Given the description of an element on the screen output the (x, y) to click on. 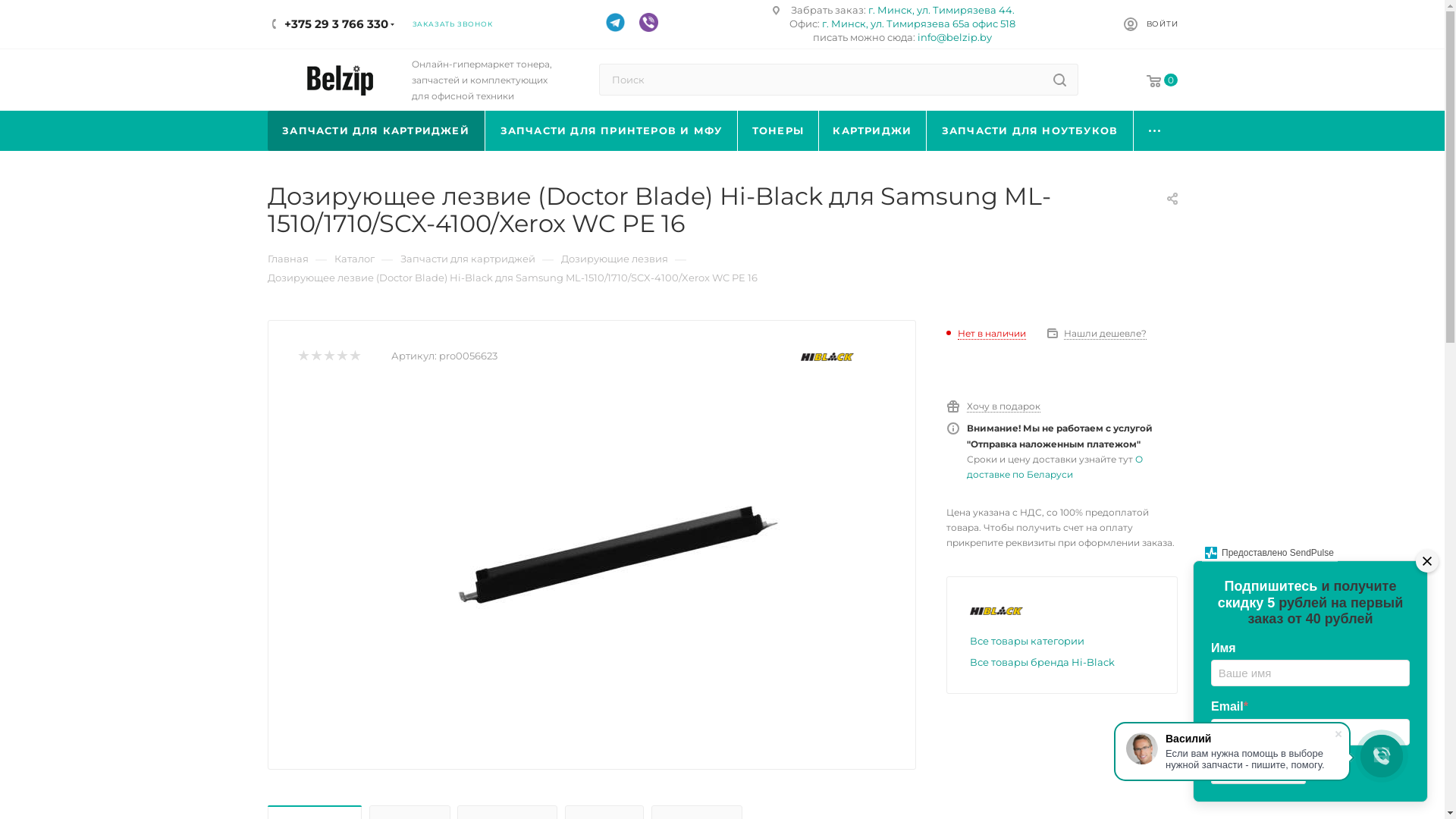
  Element type: text (1426, 560)
telegram.png Element type: hover (614, 18)
Hi-Black Element type: hover (826, 356)
viber.png Element type: hover (648, 18)
info@belzip.by Element type: text (954, 37)
0 Element type: text (1150, 81)
Hi-Black Element type: hover (995, 610)
+375 29 3 766 330 Element type: text (335, 18)
Belzip.by Element type: hover (338, 80)
